Given the description of an element on the screen output the (x, y) to click on. 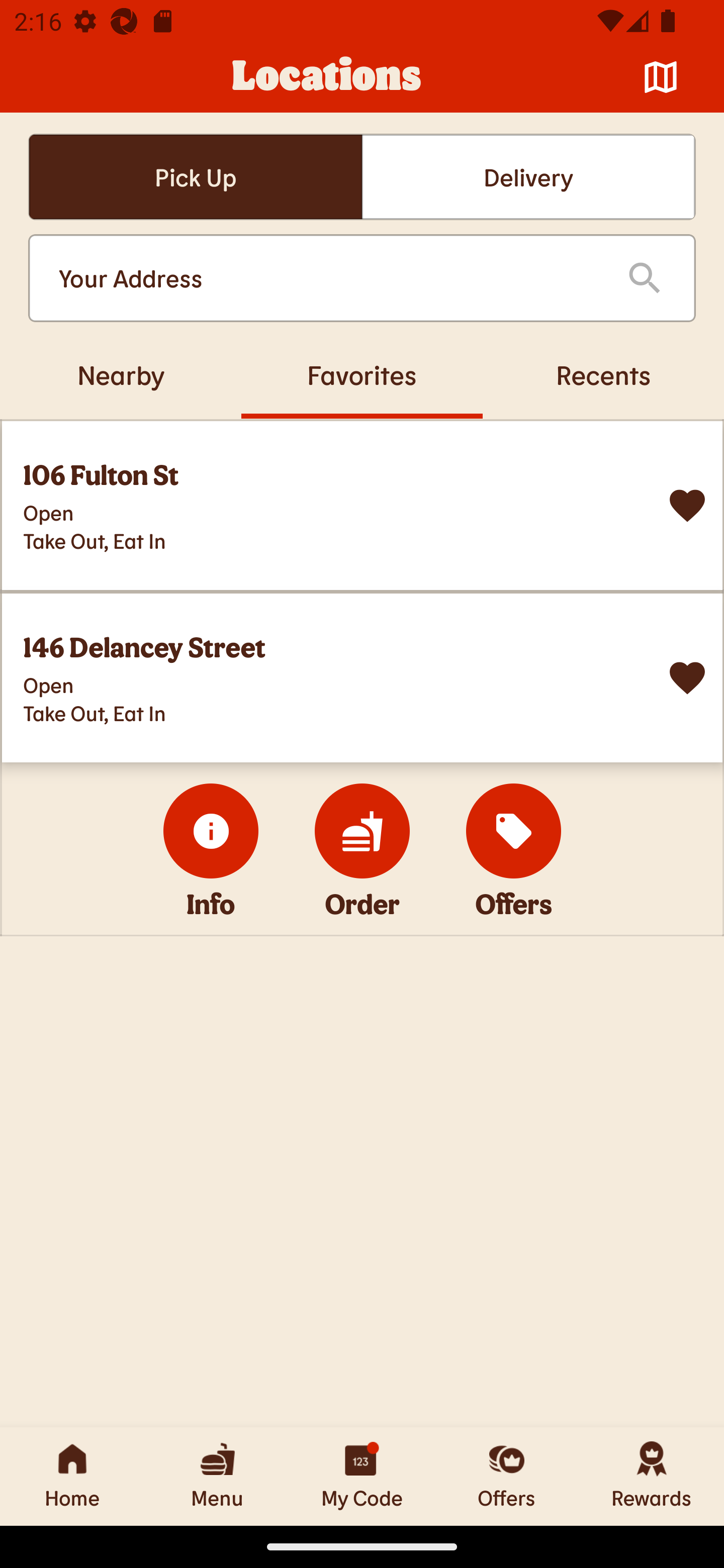
Map 󰦂 (660, 77)
Locations (326, 77)
Pick UpSelected Pick UpSelected Pick Up (195, 176)
Delivery Delivery Delivery (528, 176)
Your Address (327, 277)
Nearby (120, 374)
Favorites (361, 374)
Recents (603, 374)
Remove from Favorites?  (687, 505)
Remove from Favorites?  (687, 677)
Info  (210, 831)
Order (361, 831)
Offers  (513, 831)
Home (72, 1475)
Menu (216, 1475)
My Code (361, 1475)
Offers (506, 1475)
Rewards (651, 1475)
